Given the description of an element on the screen output the (x, y) to click on. 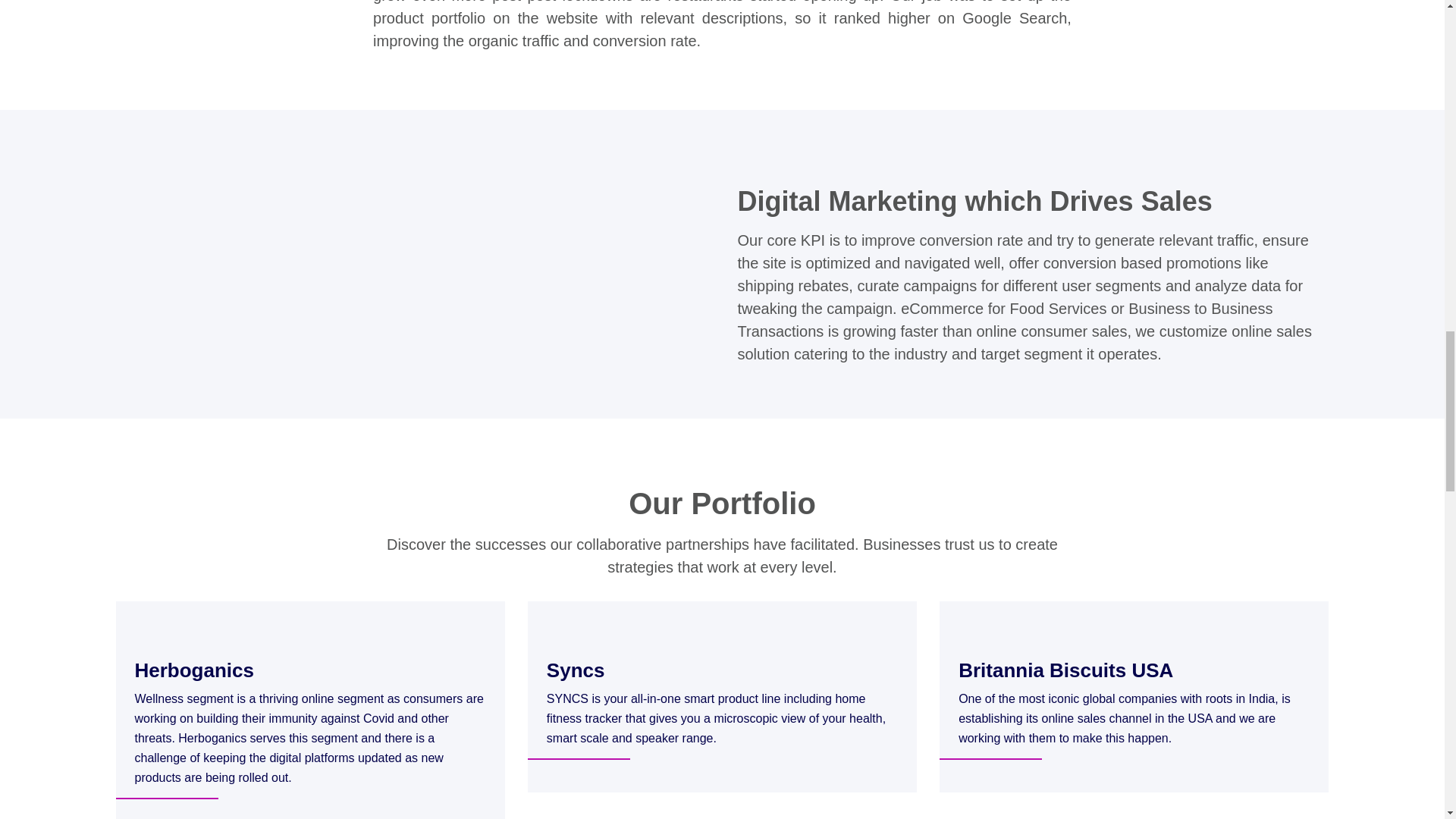
Syncs (576, 670)
Britannia Biscuits USA (1065, 670)
Herboganics (194, 670)
